Given the description of an element on the screen output the (x, y) to click on. 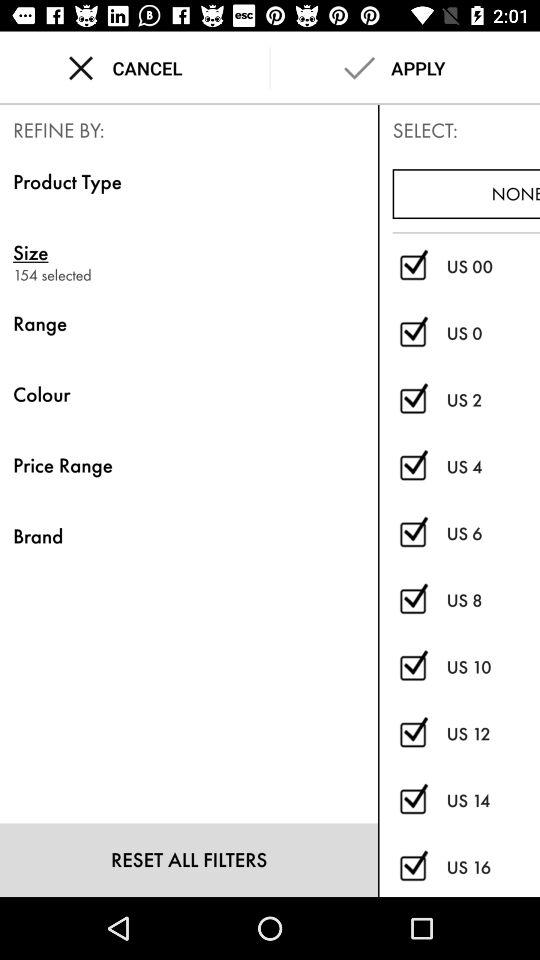
toggle us 10 (412, 667)
